Given the description of an element on the screen output the (x, y) to click on. 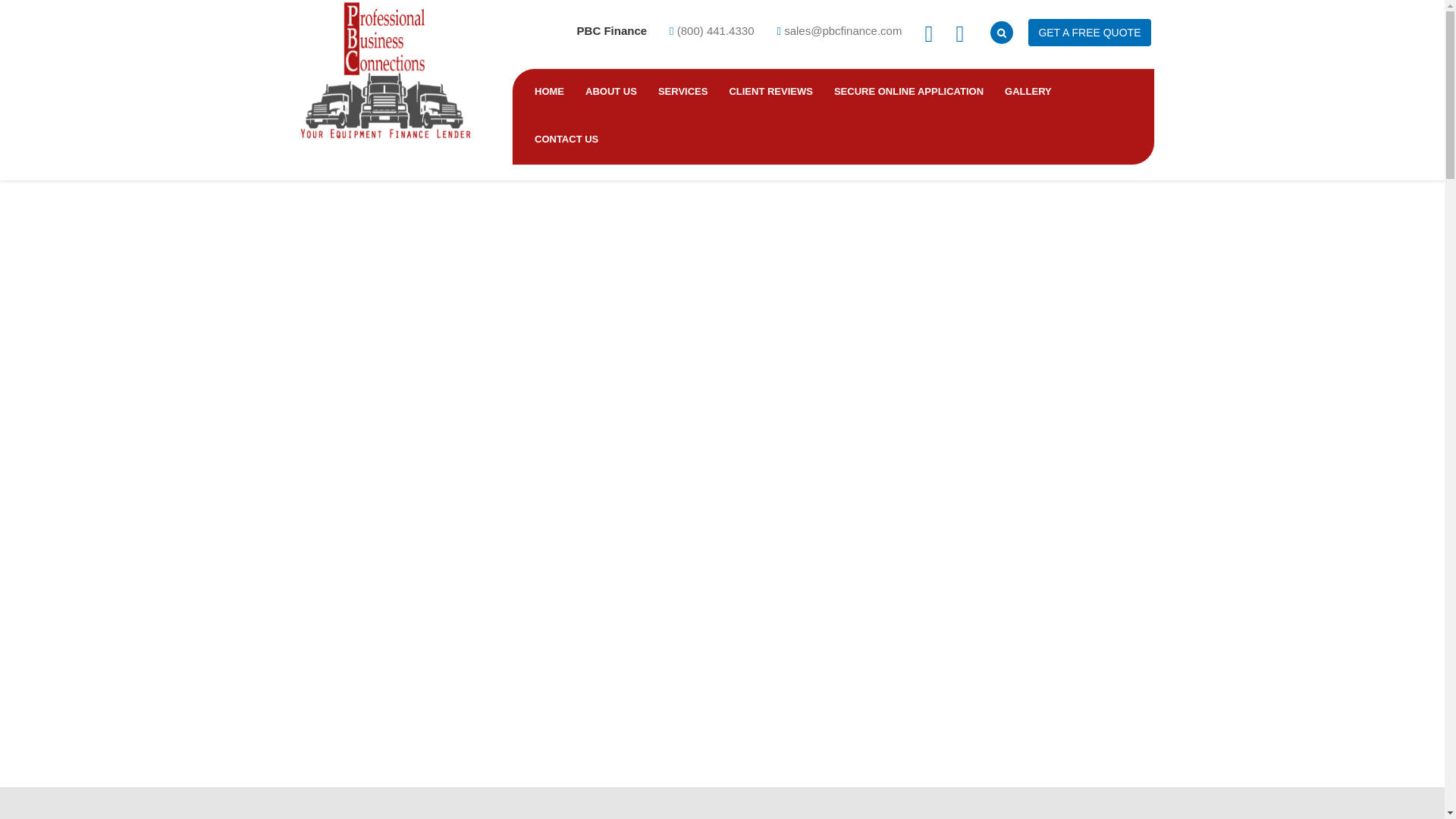
CONTACT US (566, 140)
ABOUT US (611, 92)
CLIENT REVIEWS (770, 92)
HOME (549, 91)
SERVICES (683, 92)
SECURE ONLINE APPLICATION (909, 92)
GET A FREE QUOTE (1088, 31)
GALLERY (1028, 92)
